Given the description of an element on the screen output the (x, y) to click on. 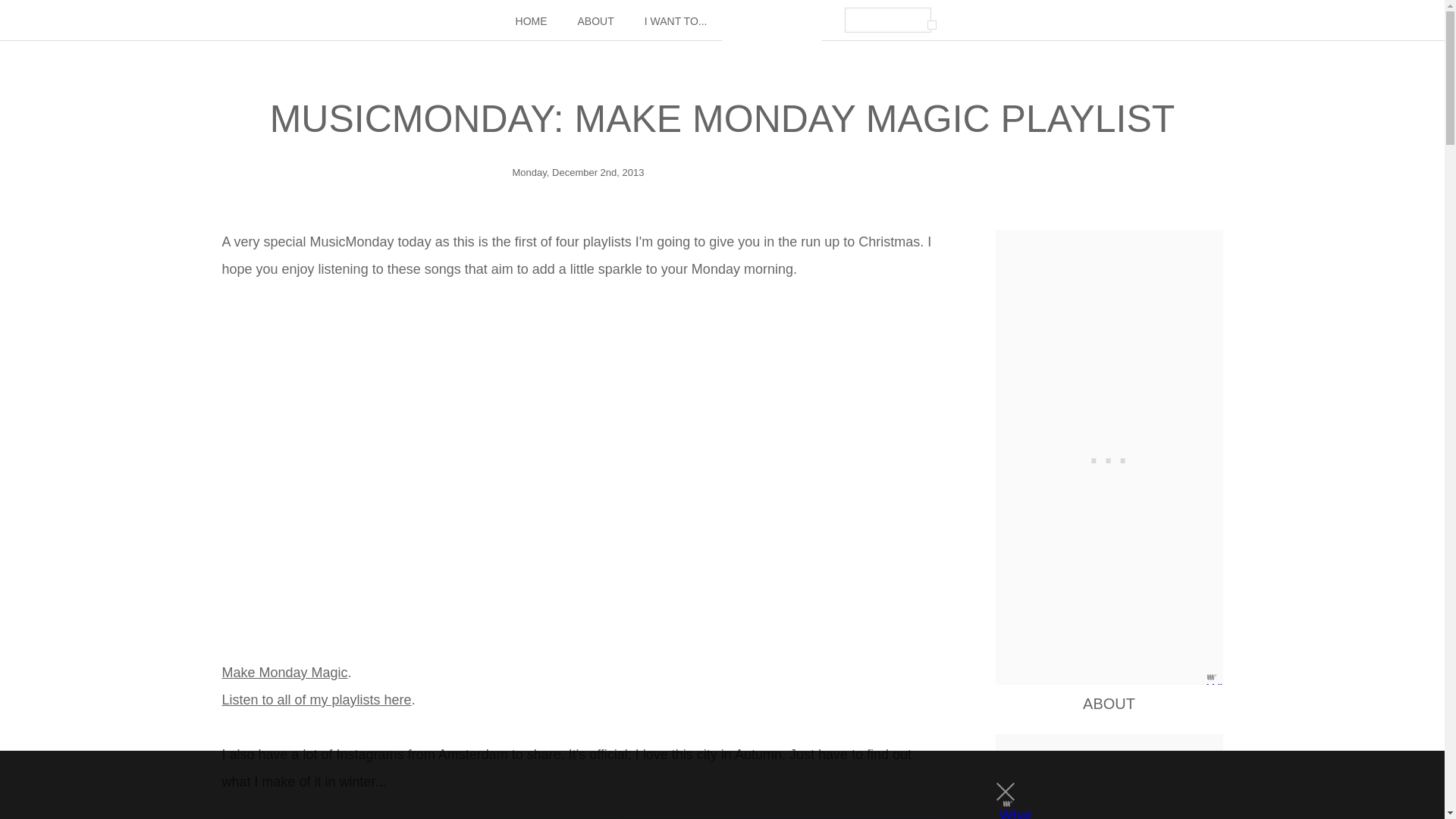
3rd party ad content (708, 785)
MusicMonday: Make Monday Magic Playlist (721, 118)
ABOUT (595, 21)
HOME (531, 21)
3rd party ad content (1108, 457)
I WANT TO... (675, 21)
